Given the description of an element on the screen output the (x, y) to click on. 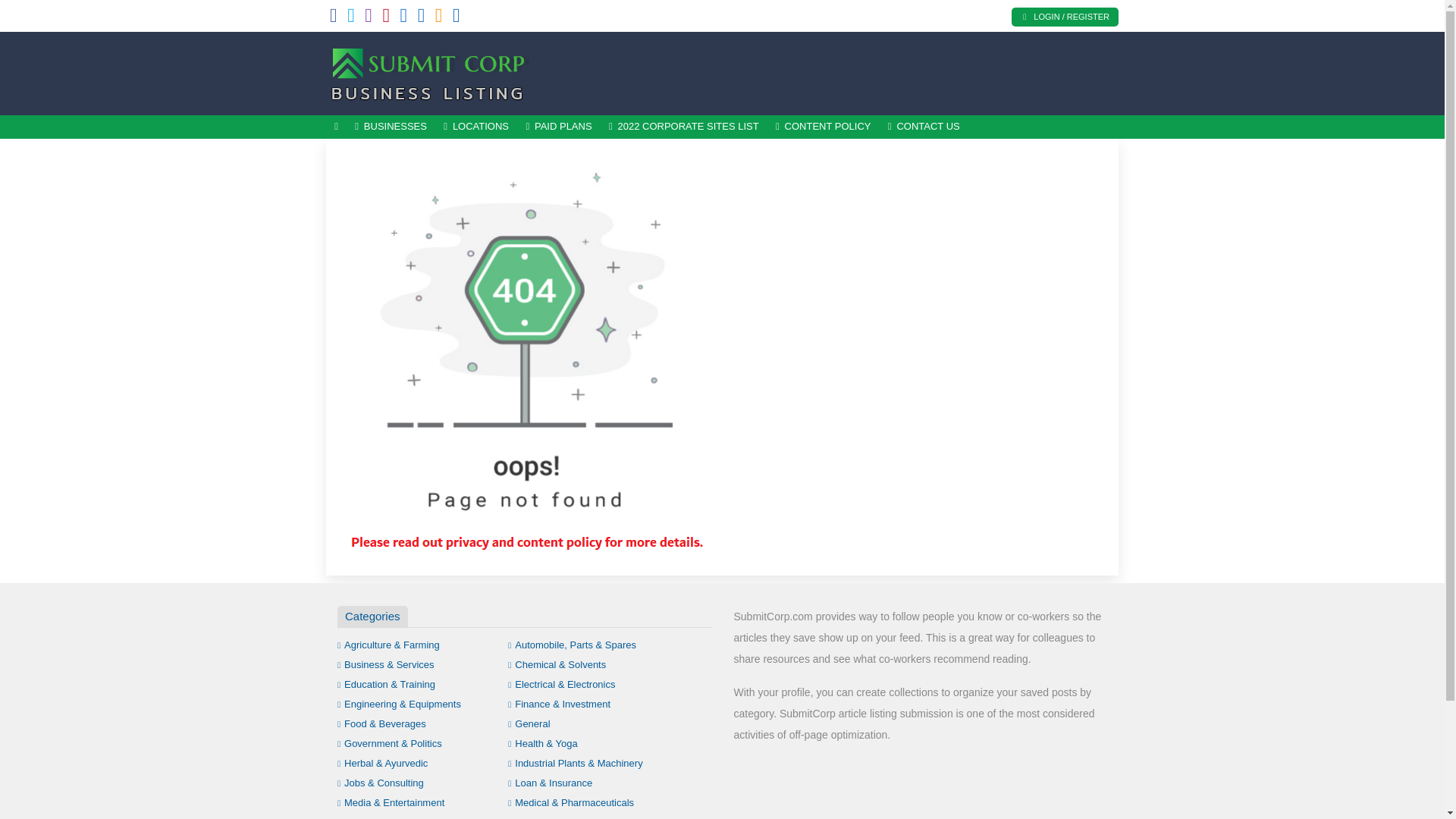
LOCATIONS (475, 126)
CONTACT US (923, 126)
General (529, 723)
BUSINESSES (390, 126)
CONTENT POLICY (823, 126)
PAID PLANS (557, 126)
2022 CORPORATE SITES LIST (683, 126)
